Given the description of an element on the screen output the (x, y) to click on. 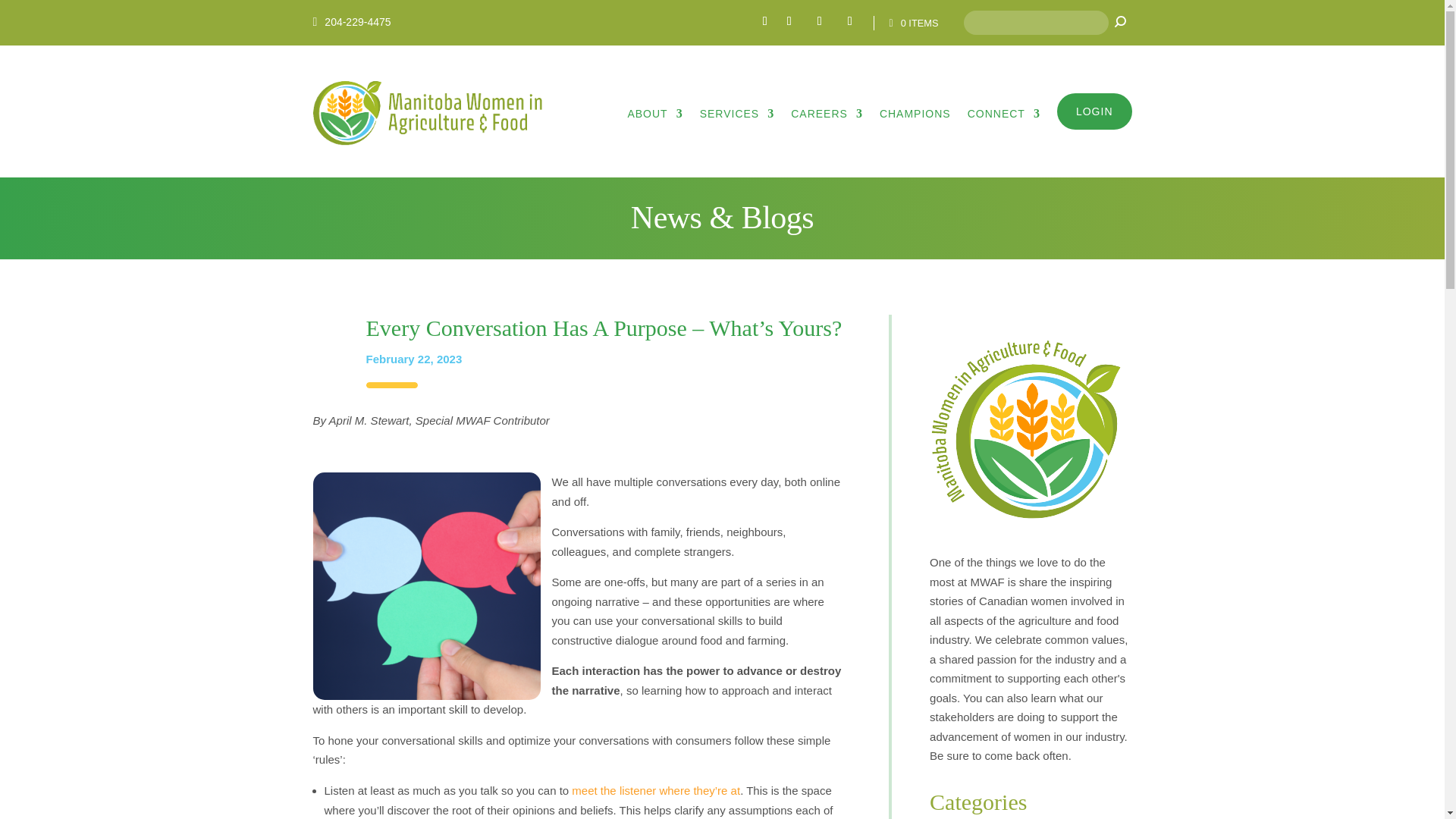
Follow on Facebook (764, 21)
Follow on Instagram (819, 21)
CAREERS (826, 113)
LOGIN (1094, 111)
Follow on LinkedIn (789, 21)
gold-divider (391, 385)
My Basket (908, 22)
CONNECT (1004, 113)
204-229-4475 (357, 21)
Search (1119, 21)
Follow on Youtube (849, 21)
Search (1119, 21)
CHAMPIONS (914, 113)
0 ITEMS (908, 22)
SERVICES (737, 113)
